Given the description of an element on the screen output the (x, y) to click on. 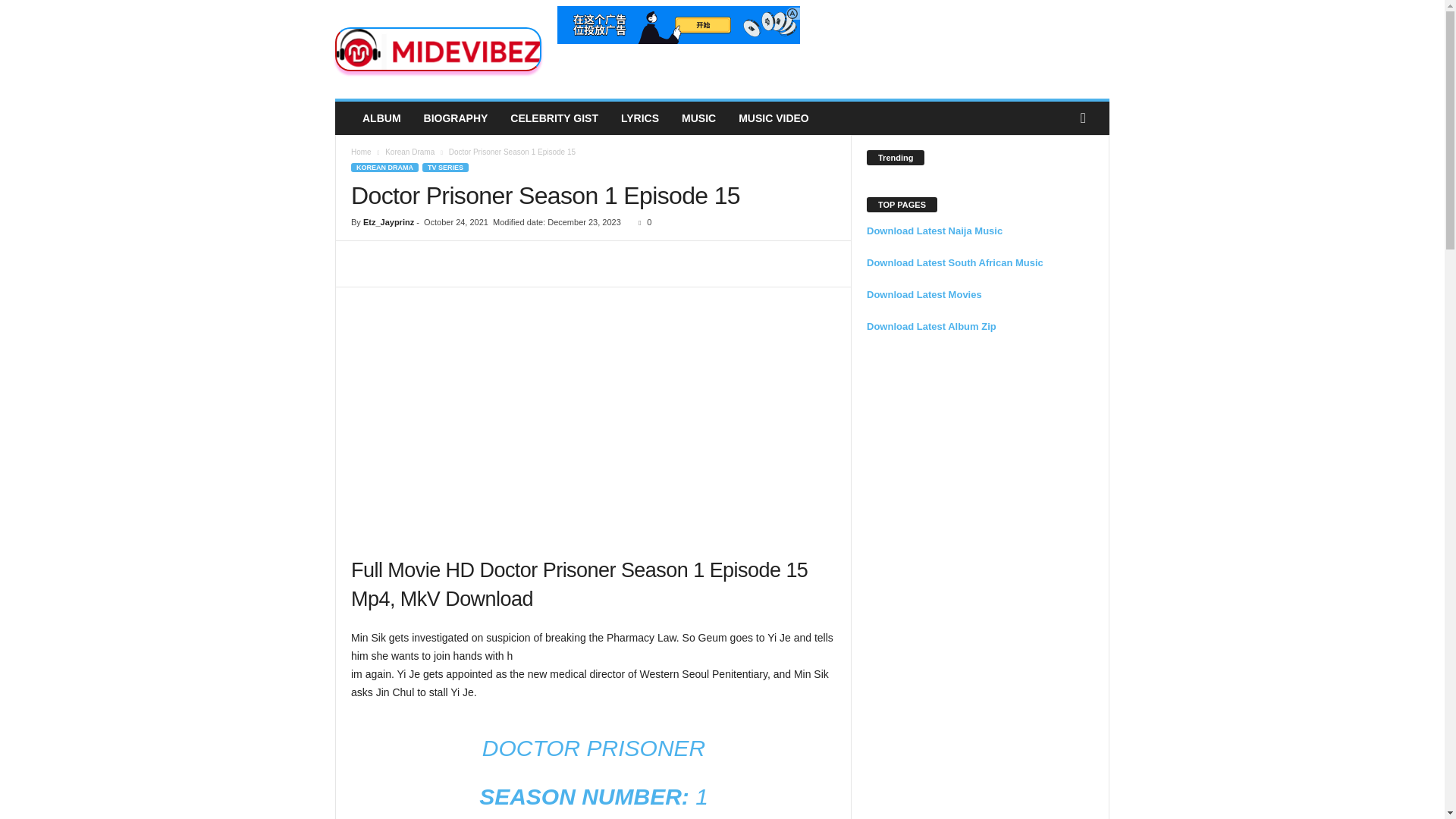
ALBUM (381, 118)
LYRICS (639, 118)
MideVibez (437, 48)
MUSIC (697, 118)
View all posts in Korean Drama (409, 152)
BIOGRAPHY (455, 118)
CELEBRITY GIST (554, 118)
